Given the description of an element on the screen output the (x, y) to click on. 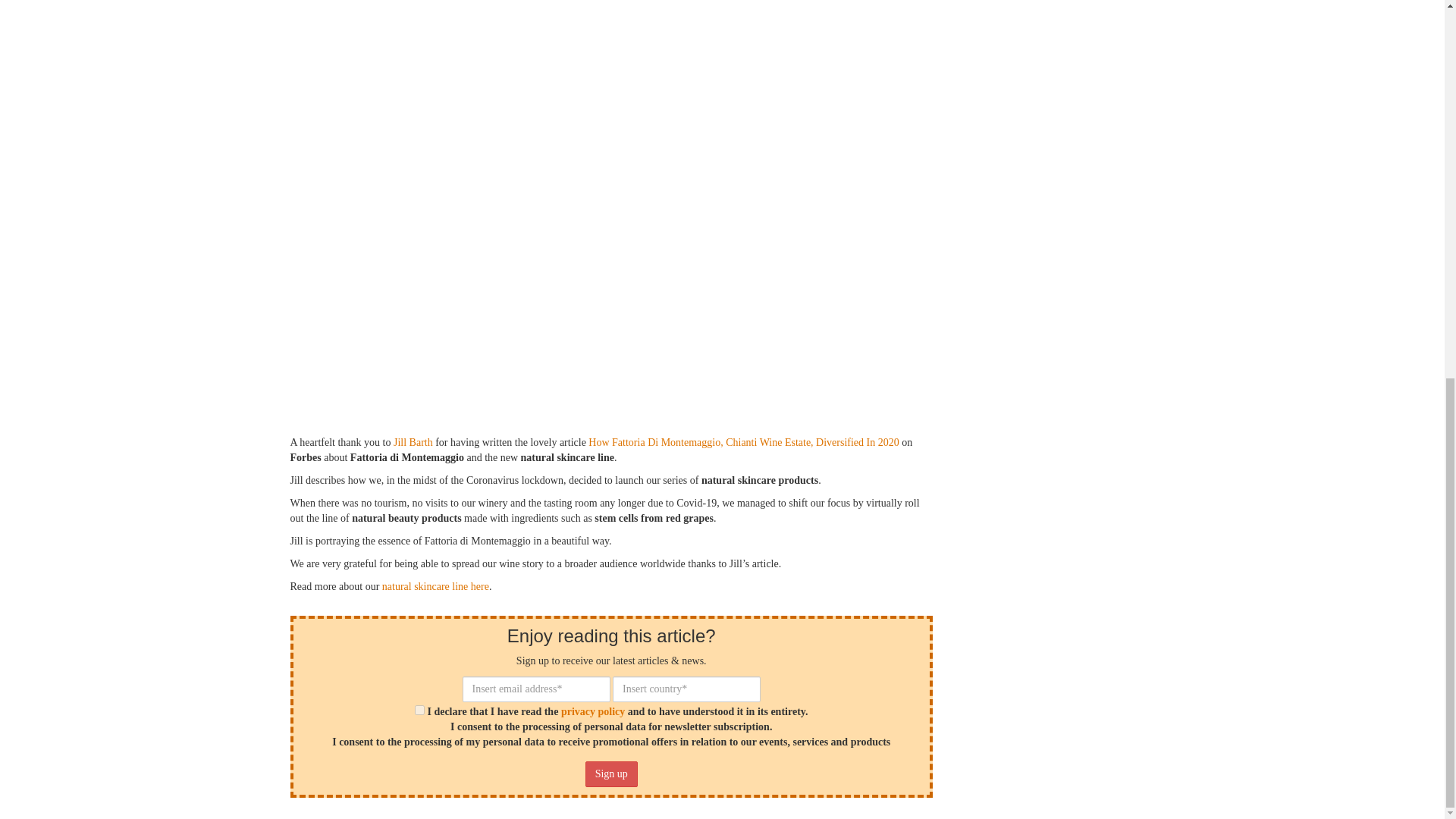
on (419, 709)
